Given the description of an element on the screen output the (x, y) to click on. 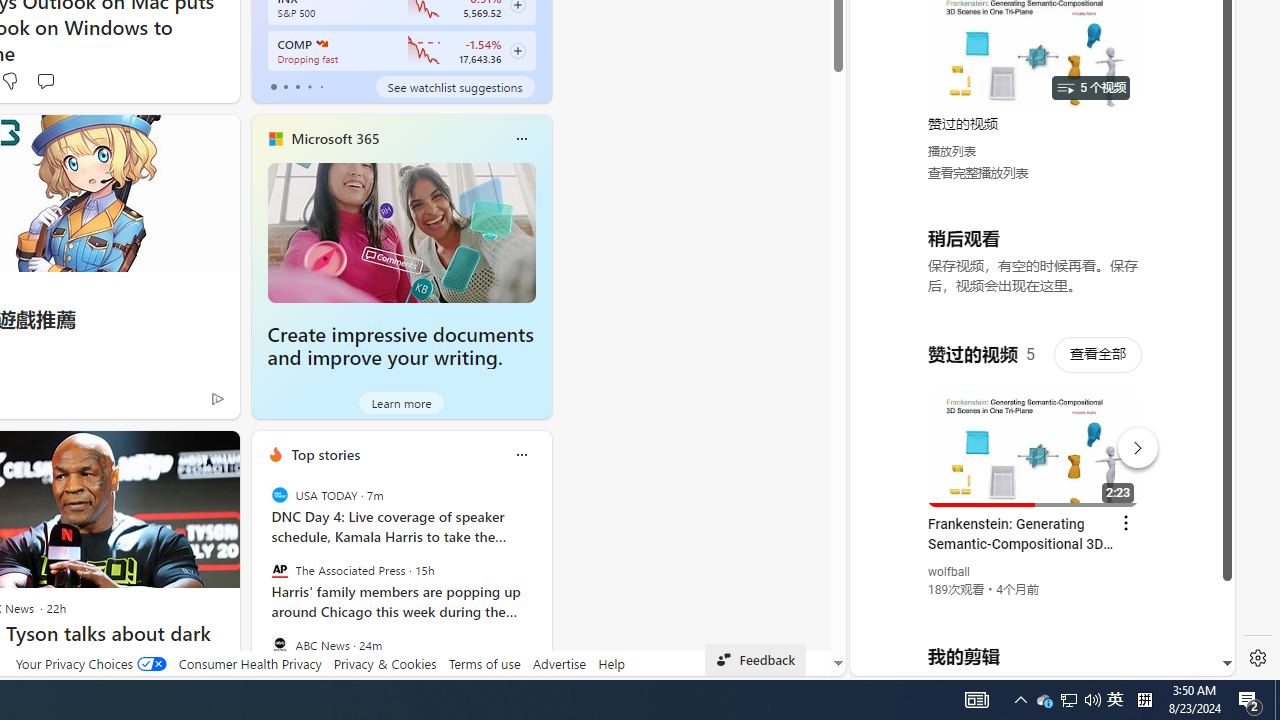
Actions for this site (1131, 443)
Class: follow-button  m (517, 51)
Create impressive documents and improve your writing. (400, 346)
tab-4 (320, 86)
Settings (1258, 658)
Feedback (755, 659)
#you (1034, 439)
US[ju] (917, 660)
Help (610, 663)
Ad Choice (217, 398)
